Given the description of an element on the screen output the (x, y) to click on. 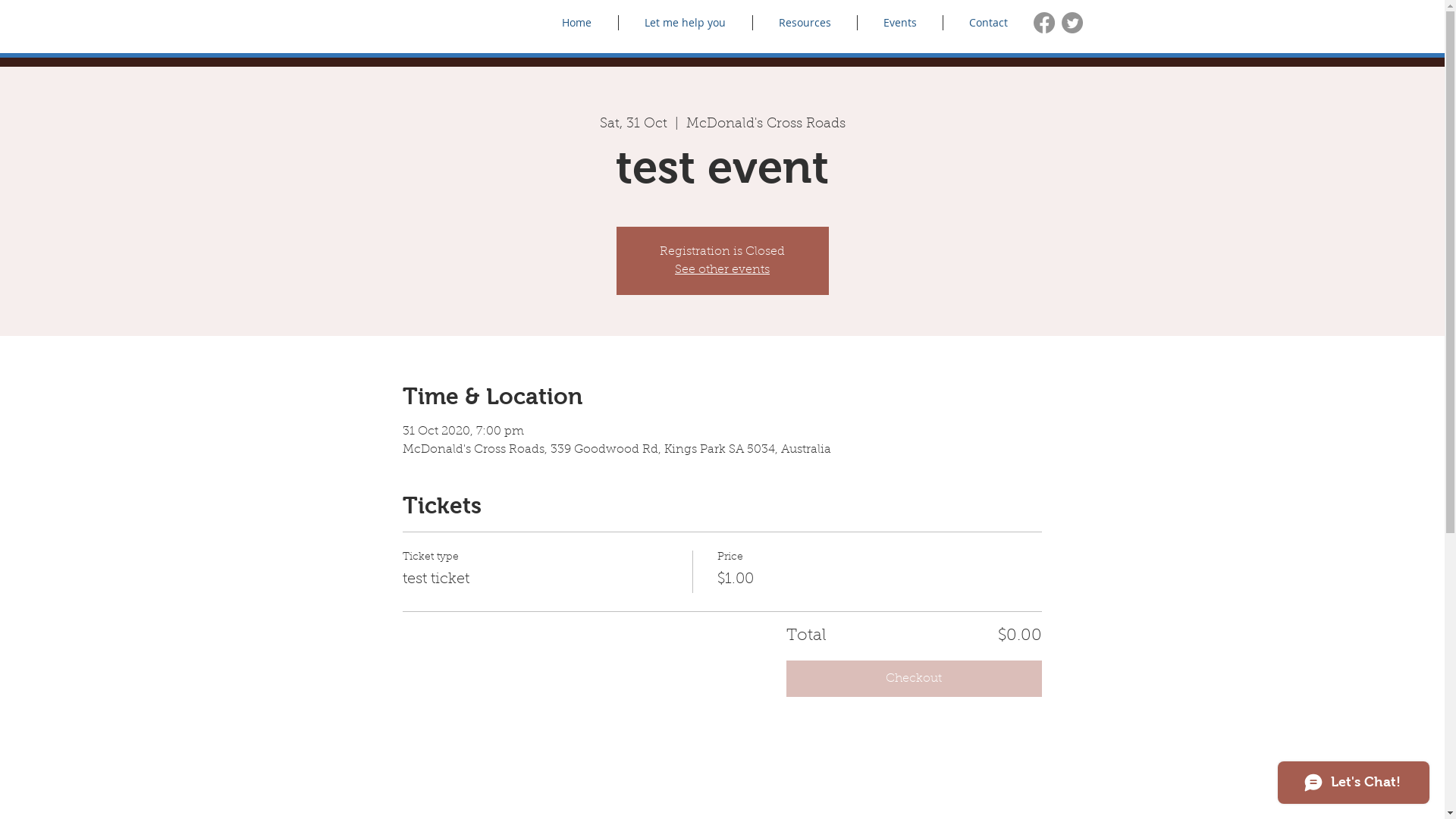
Events Element type: text (898, 22)
Checkout Element type: text (913, 678)
Home Element type: text (576, 22)
See other events Element type: text (721, 269)
Contact Element type: text (988, 22)
Let me help you Element type: text (685, 22)
Resources Element type: text (804, 22)
